Given the description of an element on the screen output the (x, y) to click on. 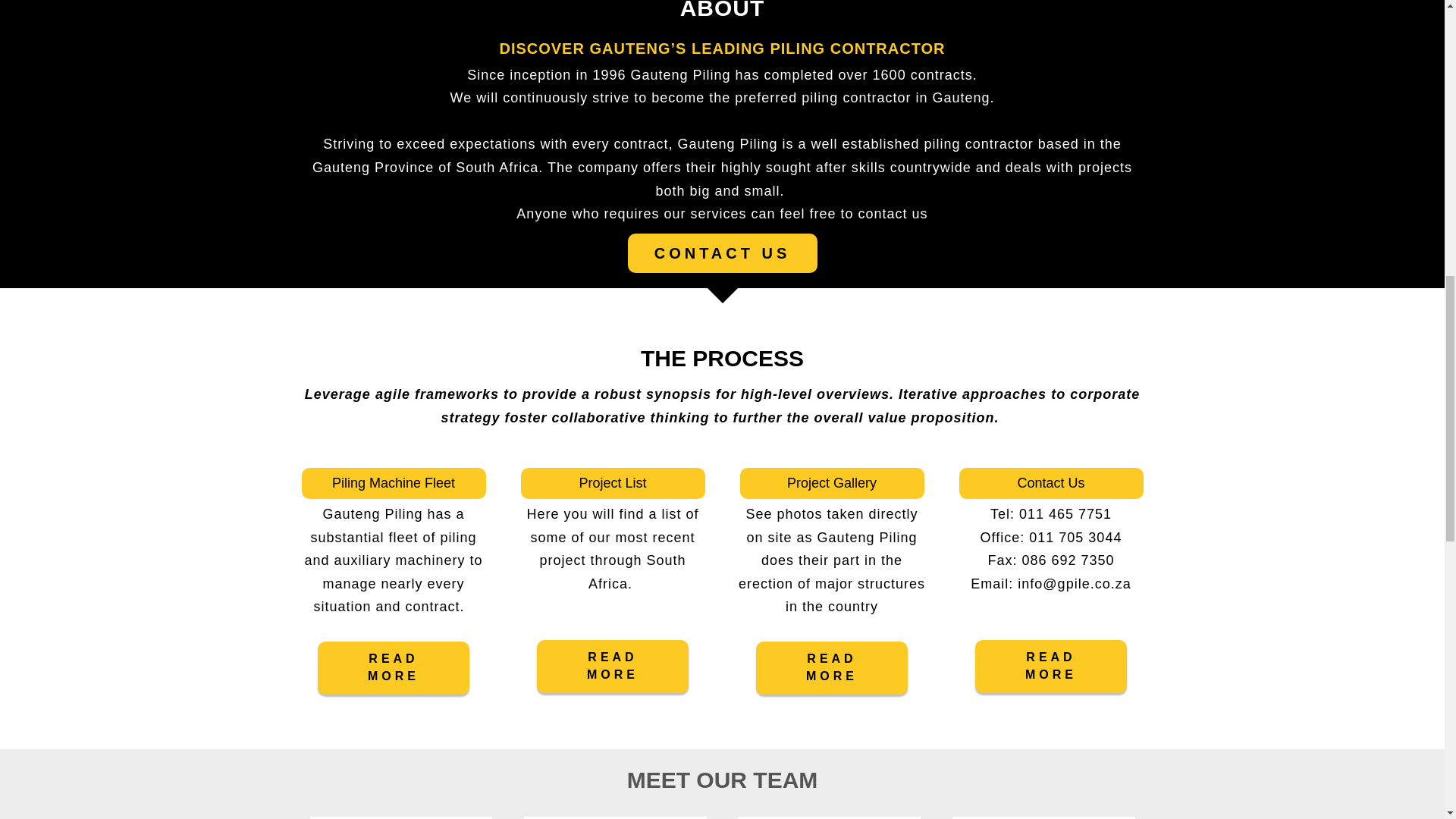
READ MORE (612, 665)
READ MORE (392, 667)
011 705 3044 (1075, 537)
READ MORE (1050, 665)
011 465 7751 (1065, 513)
READ MORE (831, 667)
CONTACT US (721, 253)
